Given the description of an element on the screen output the (x, y) to click on. 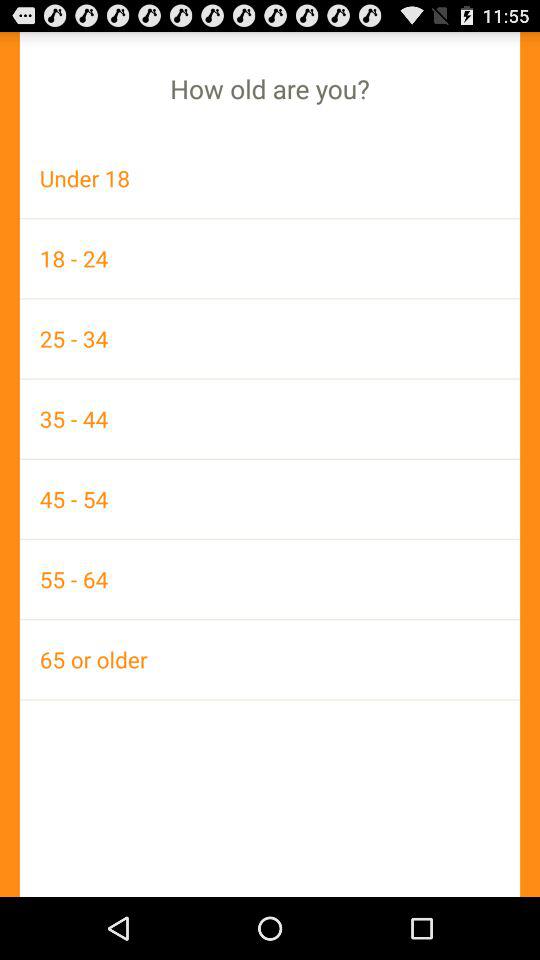
press the icon below the 45 - 54 app (269, 579)
